Given the description of an element on the screen output the (x, y) to click on. 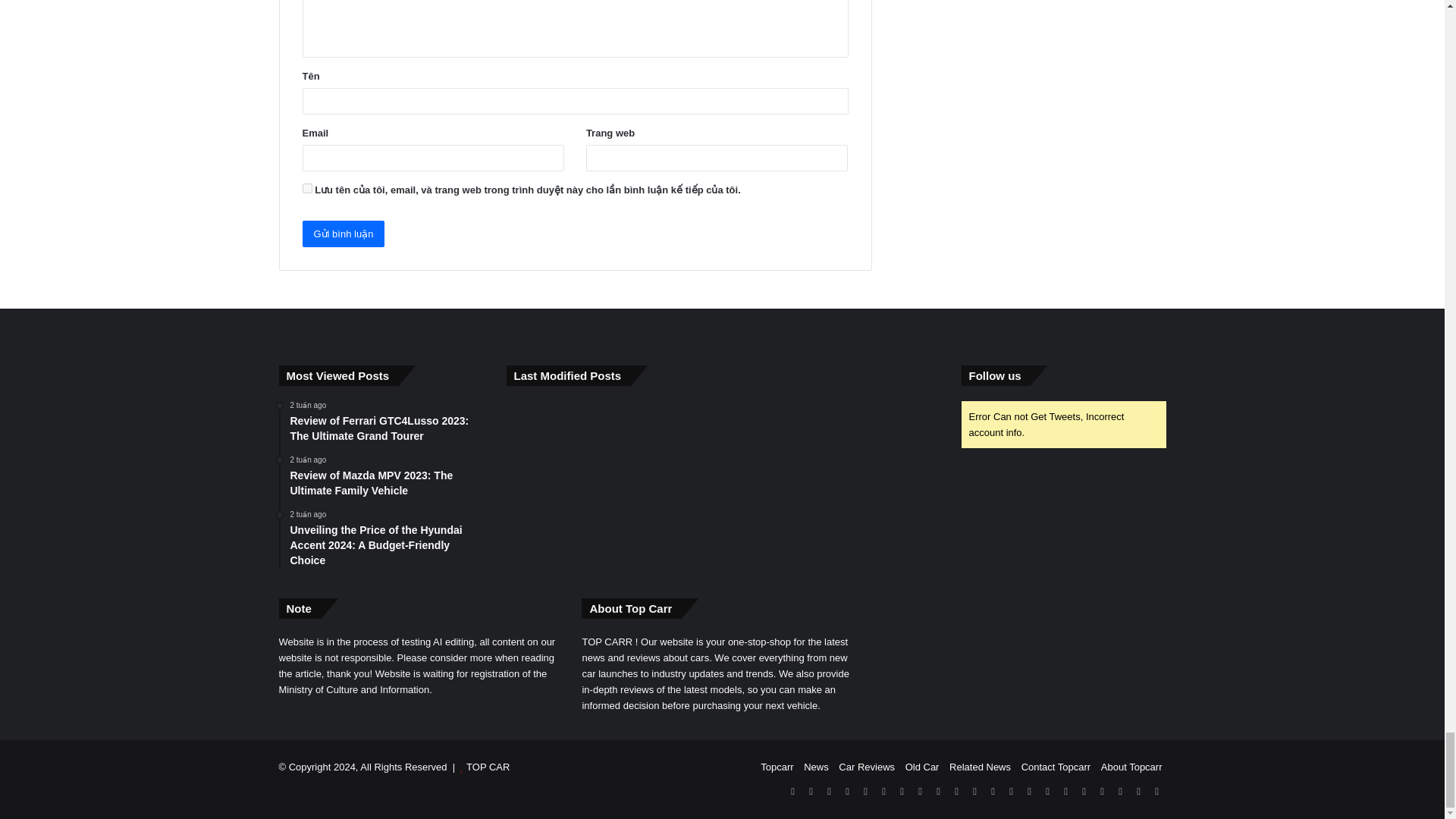
yes (306, 188)
